Given the description of an element on the screen output the (x, y) to click on. 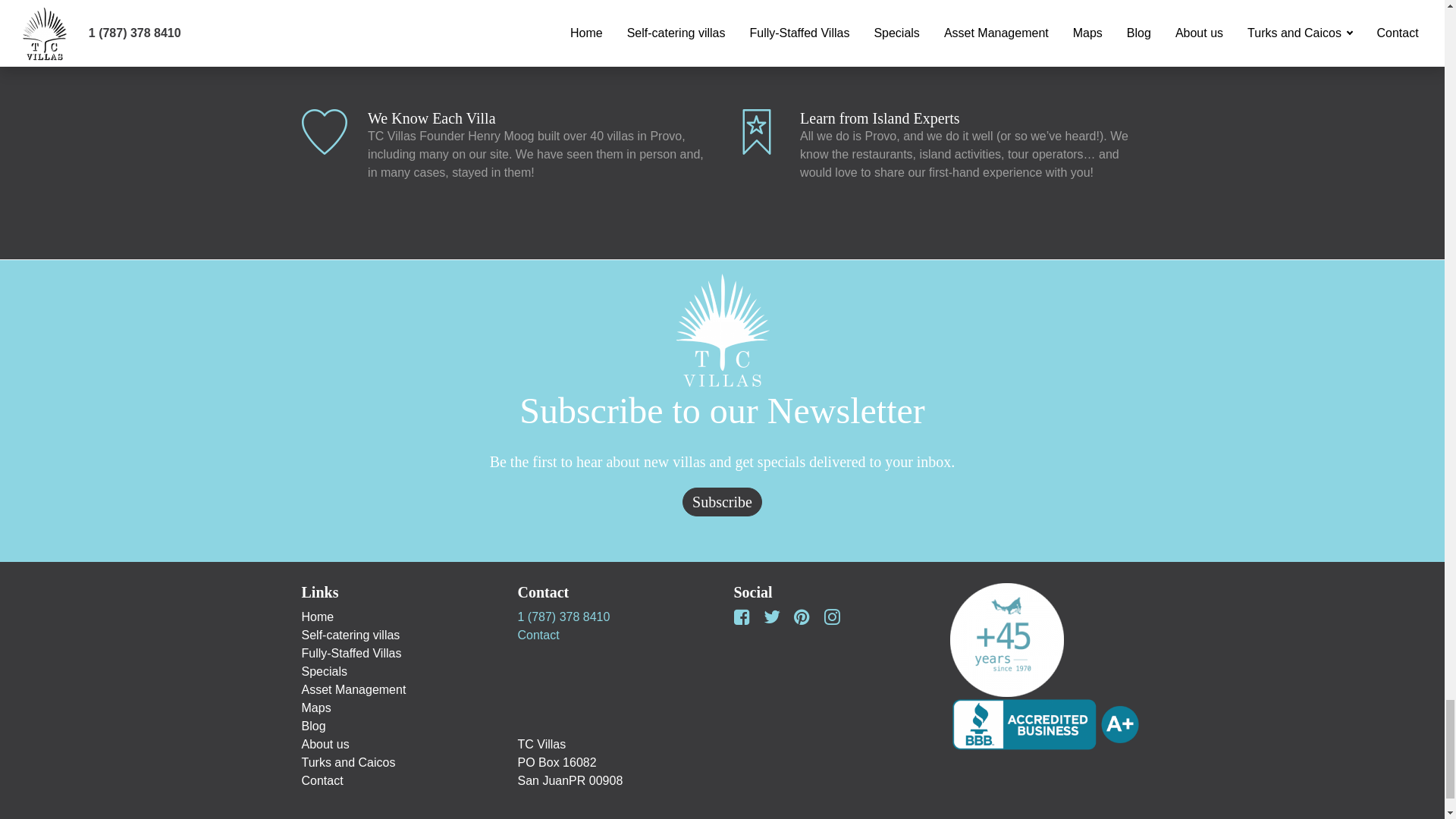
Facebook (740, 620)
Pinterest (801, 620)
Instagram (830, 620)
Twitter (772, 620)
